Given the description of an element on the screen output the (x, y) to click on. 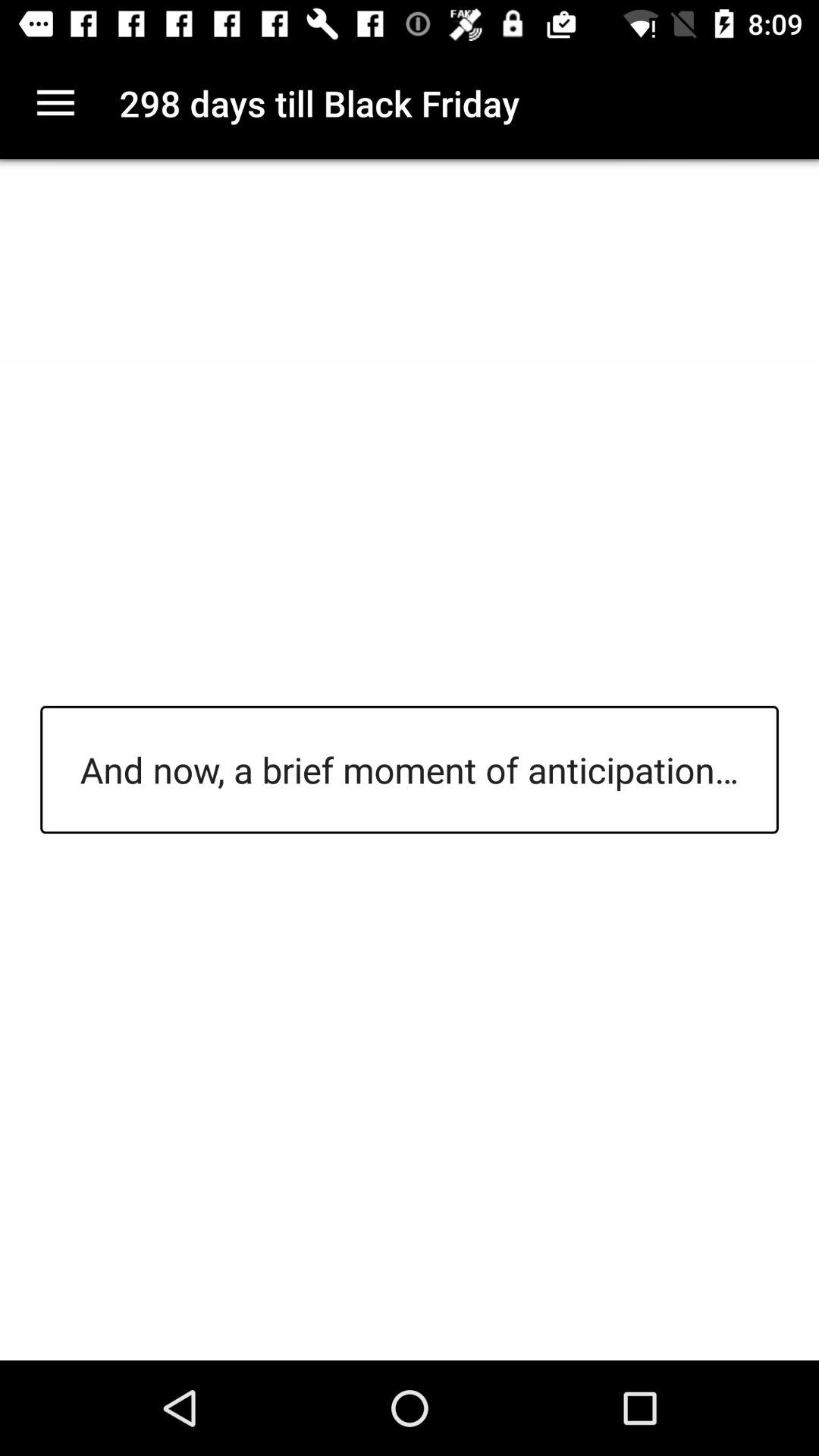
turn off the icon at the top left corner (55, 103)
